Given the description of an element on the screen output the (x, y) to click on. 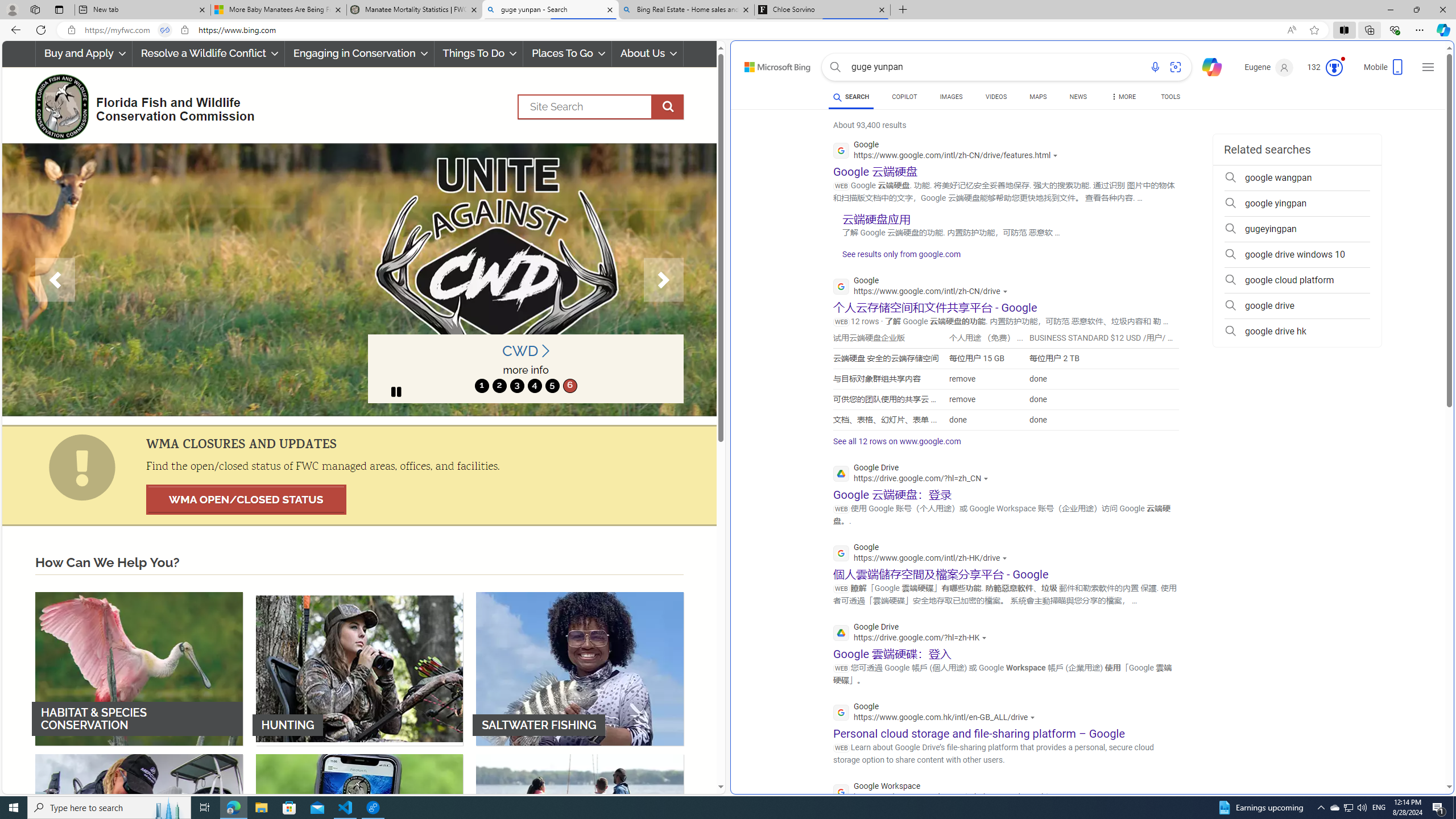
SEARCH (850, 96)
HABITAT & SPECIES CONSERVATION (138, 668)
google cloud platform (1297, 280)
MAPS (1038, 98)
Google Drive (912, 634)
Actions for this site (1061, 797)
HUNTING (358, 668)
TOOLS (1171, 98)
Minimize (1390, 9)
